Given the description of an element on the screen output the (x, y) to click on. 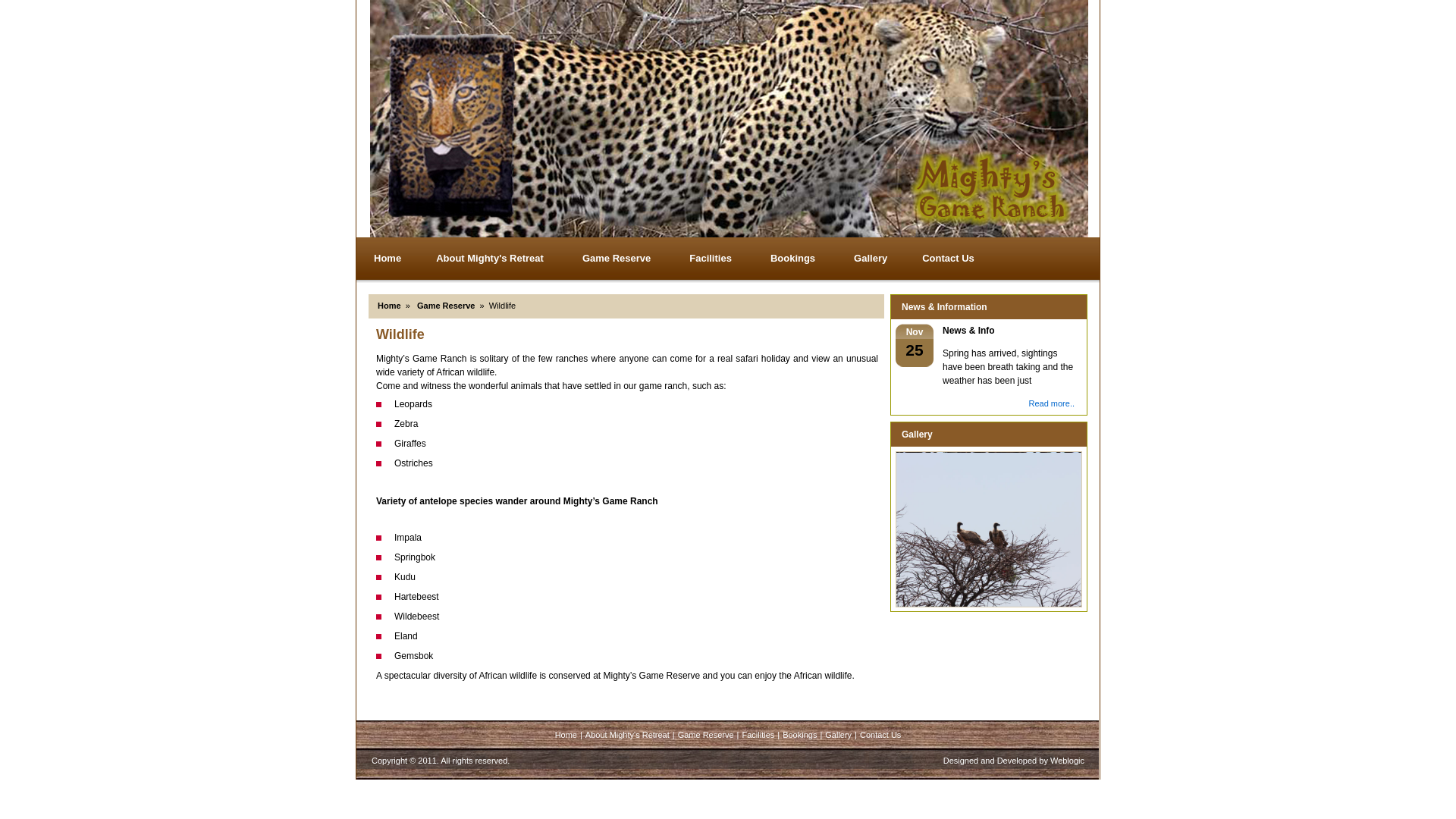
Bookings Element type: text (794, 258)
Bookings Element type: text (799, 734)
Home Element type: text (566, 734)
Designed and Developed by Weblogic Element type: text (1013, 760)
Gallery Element type: text (838, 734)
Home Element type: text (387, 258)
Contact Us Element type: text (879, 734)
About Mighty's Retreat Element type: text (491, 258)
Read more.. Element type: text (1051, 402)
About Mighty's Retreat Element type: text (627, 734)
Contact Us Element type: text (947, 258)
Facilities Element type: text (757, 734)
Game Reserve Element type: text (445, 307)
Gallery Element type: text (870, 258)
Home Element type: text (389, 307)
Game Reserve Element type: text (705, 734)
Game Reserve Element type: text (617, 258)
Facilities Element type: text (712, 258)
